Given the description of an element on the screen output the (x, y) to click on. 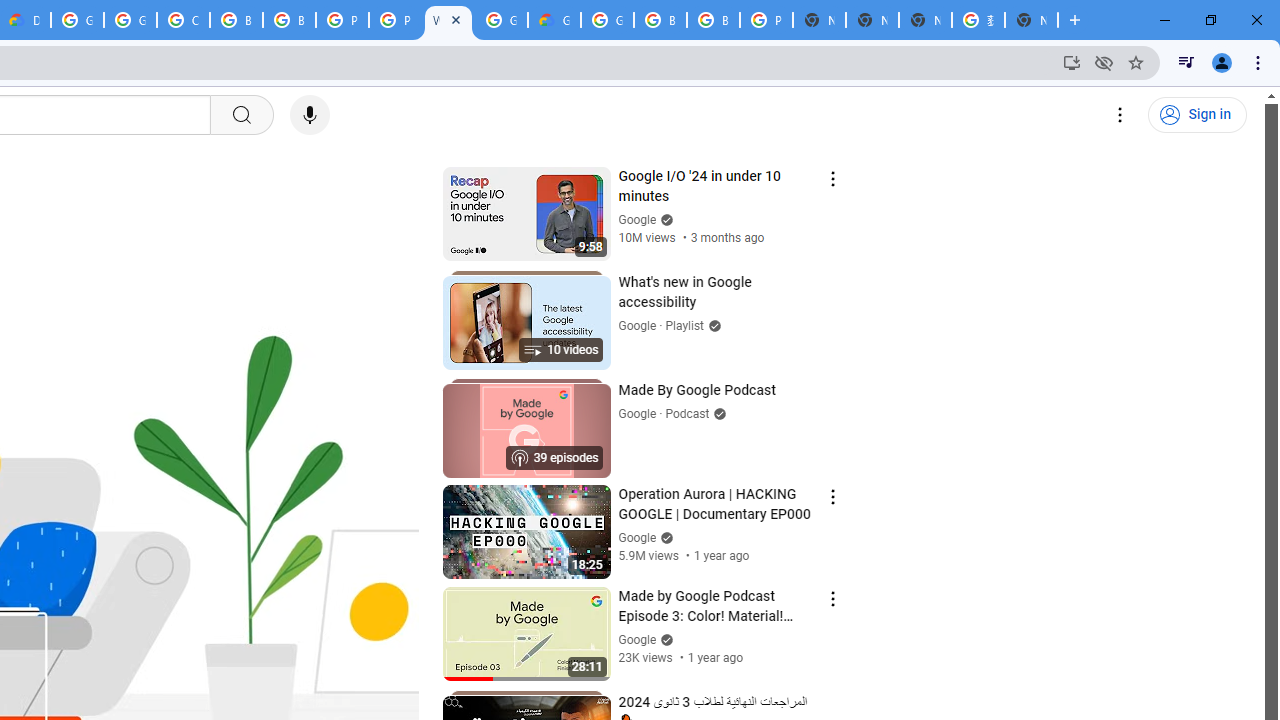
Install YouTube (1071, 62)
New Tab (819, 20)
Google Cloud Platform (607, 20)
Browse Chrome as a guest - Computer - Google Chrome Help (660, 20)
Google Cloud Platform (77, 20)
Search with your voice (309, 115)
